Given the description of an element on the screen output the (x, y) to click on. 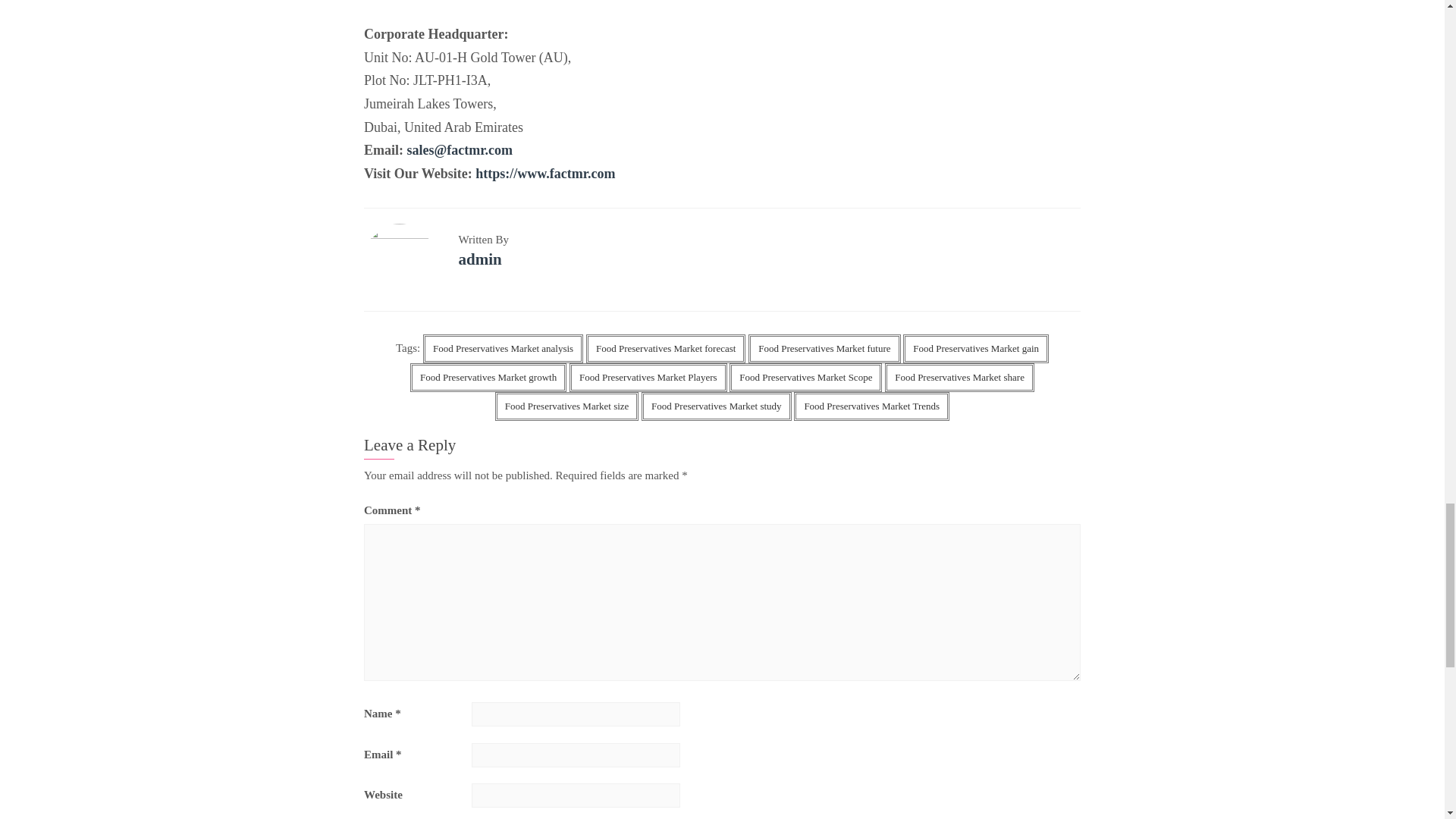
Food Preservatives Market study (717, 406)
Food Preservatives Market share (959, 377)
admin (479, 259)
Food Preservatives Market Players (647, 377)
Food Preservatives Market forecast (665, 348)
Food Preservatives Market growth (488, 377)
Food Preservatives Market Scope (805, 377)
admin (479, 259)
Food Preservatives Market future (823, 348)
Food Preservatives Market size (567, 406)
Food Preservatives Market gain (975, 348)
Food Preservatives Market analysis (503, 348)
